Given the description of an element on the screen output the (x, y) to click on. 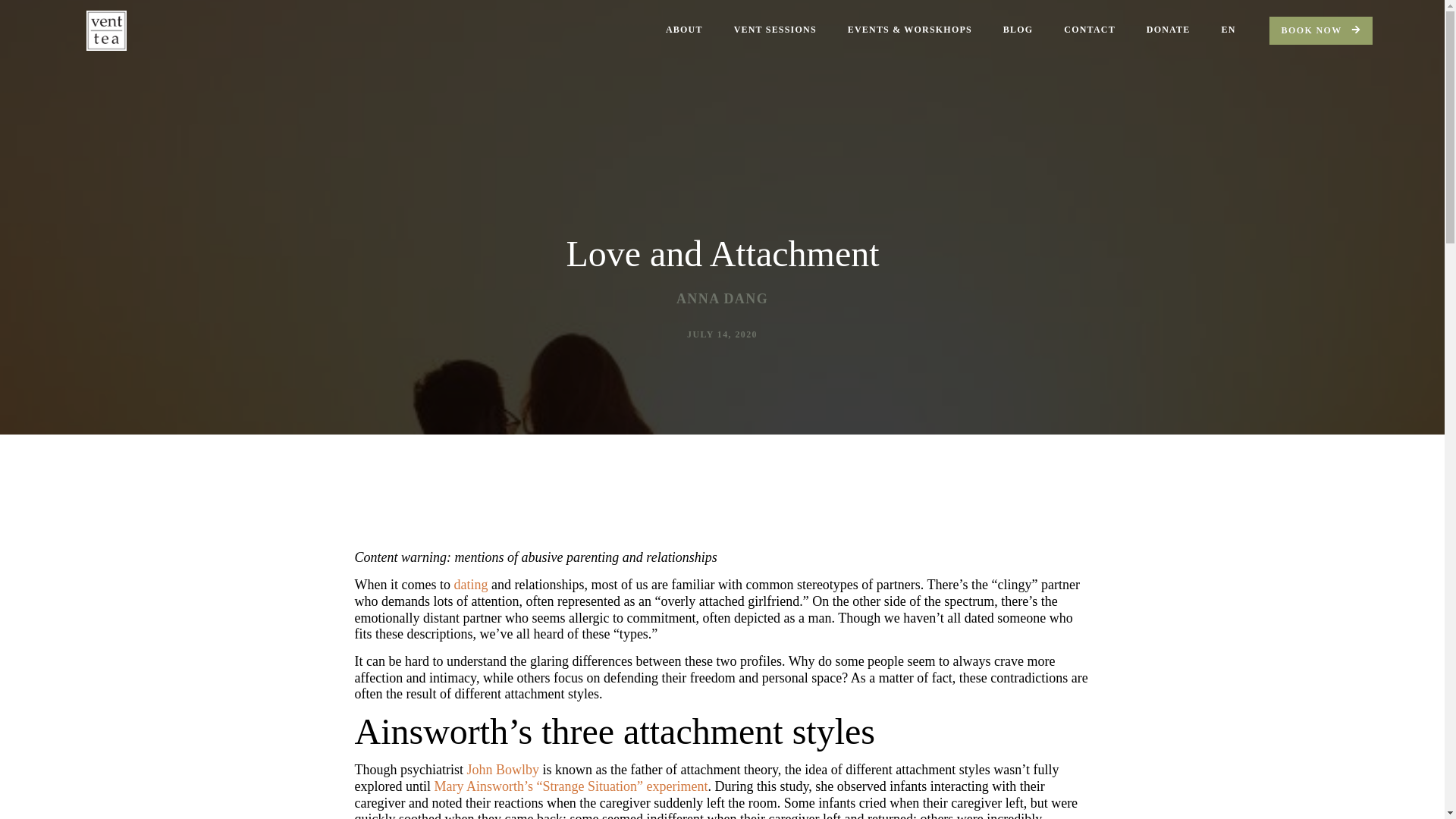
CONTACT (1089, 29)
BLOG (1018, 29)
dating (469, 584)
John Bowlby (501, 769)
ANNA DANG (722, 299)
ABOUT (684, 29)
EN (1227, 29)
BOOK NOW (1321, 30)
DONATE (1168, 29)
JULY 14, 2020 (722, 334)
